Given the description of an element on the screen output the (x, y) to click on. 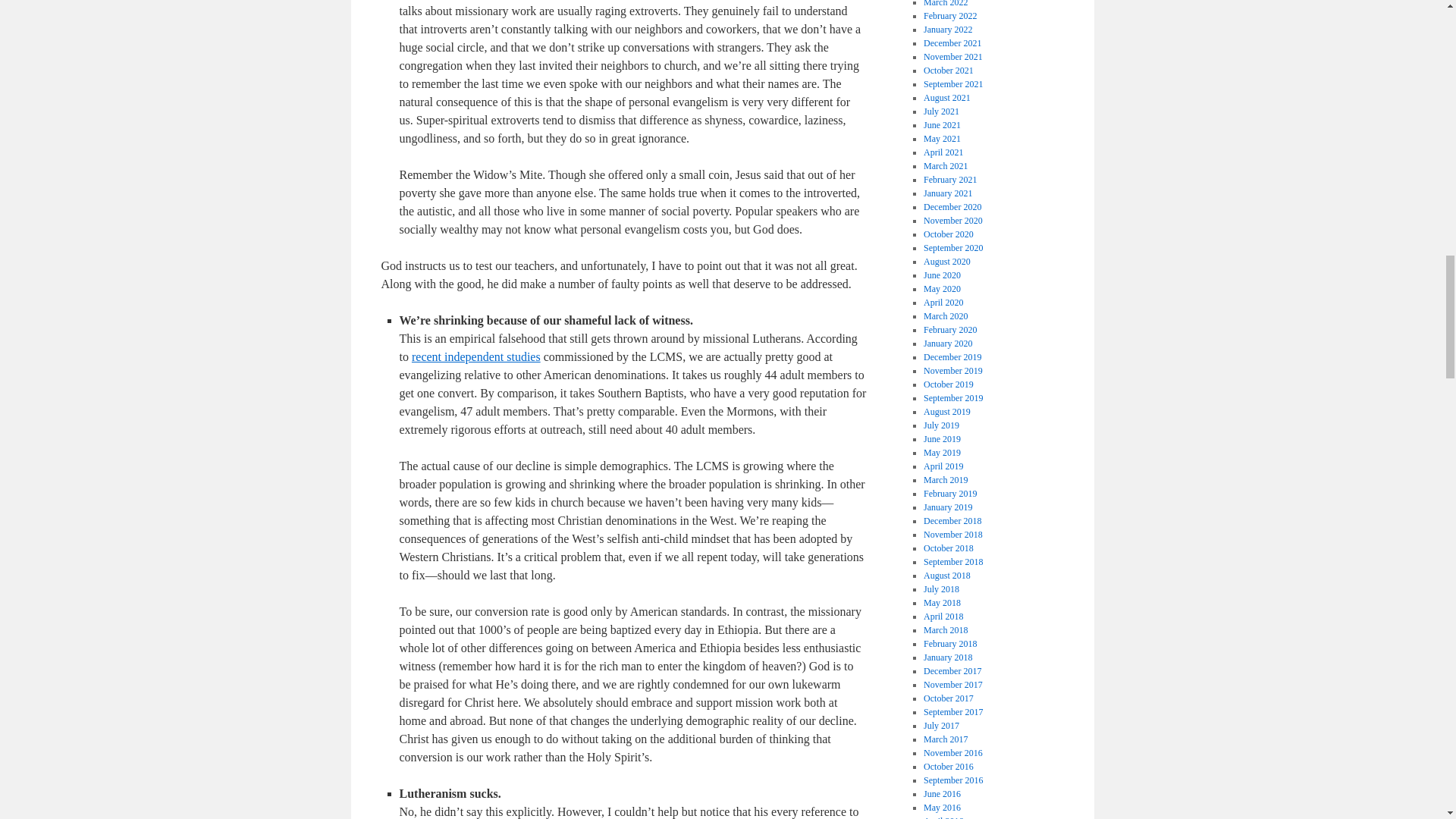
recent independent studies (476, 356)
